Given the description of an element on the screen output the (x, y) to click on. 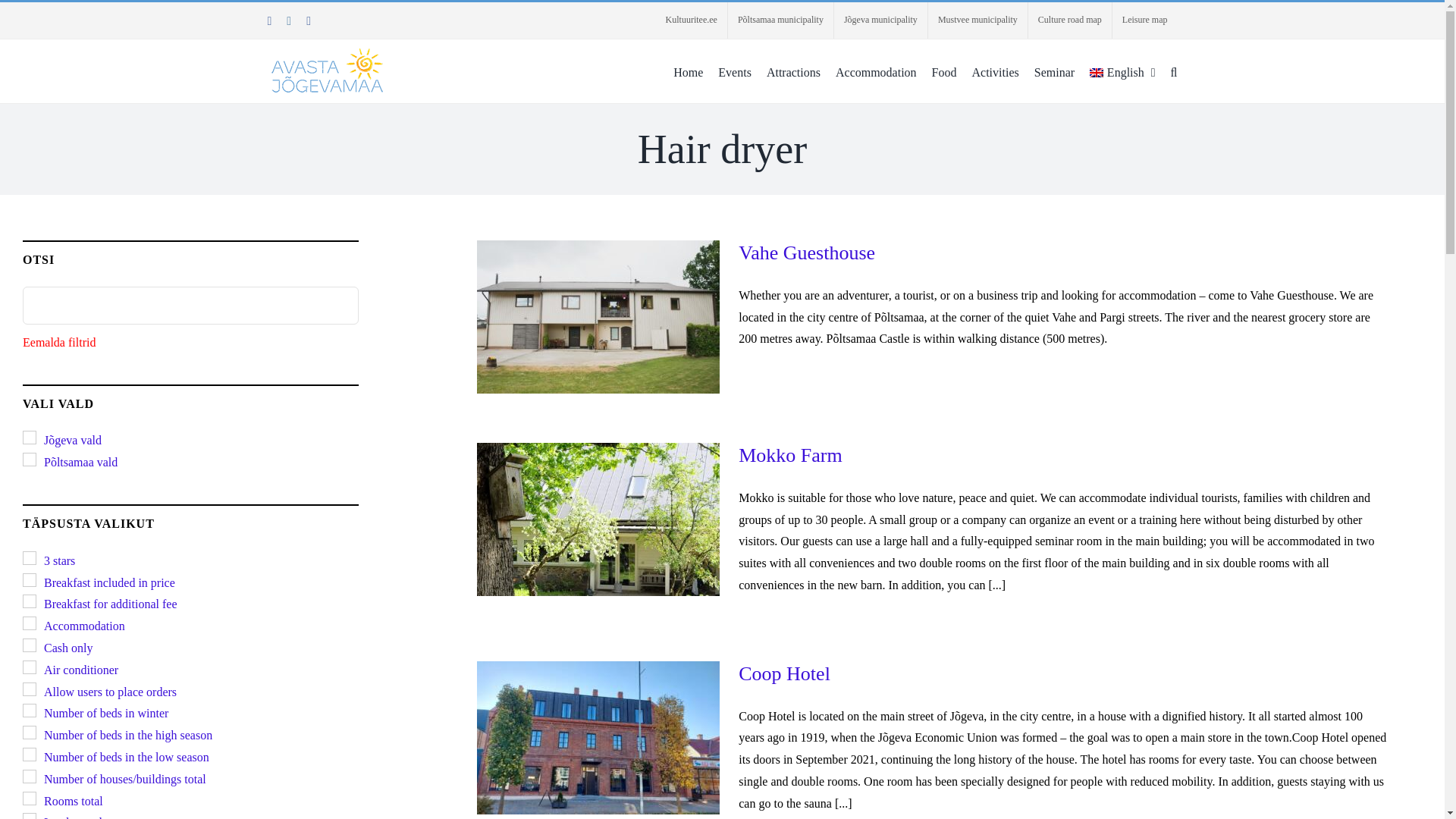
Facebook (268, 21)
Events (734, 71)
Facebook (308, 21)
Search (1173, 71)
English (1122, 71)
Instagram (288, 21)
Seminar (1053, 71)
English (1122, 71)
Food (943, 71)
Mustvee municipality (977, 20)
Attractions (794, 71)
Culture road map (1069, 20)
Kultuuritee.ee (691, 20)
Activities (995, 71)
Leisure map (1144, 20)
